Given the description of an element on the screen output the (x, y) to click on. 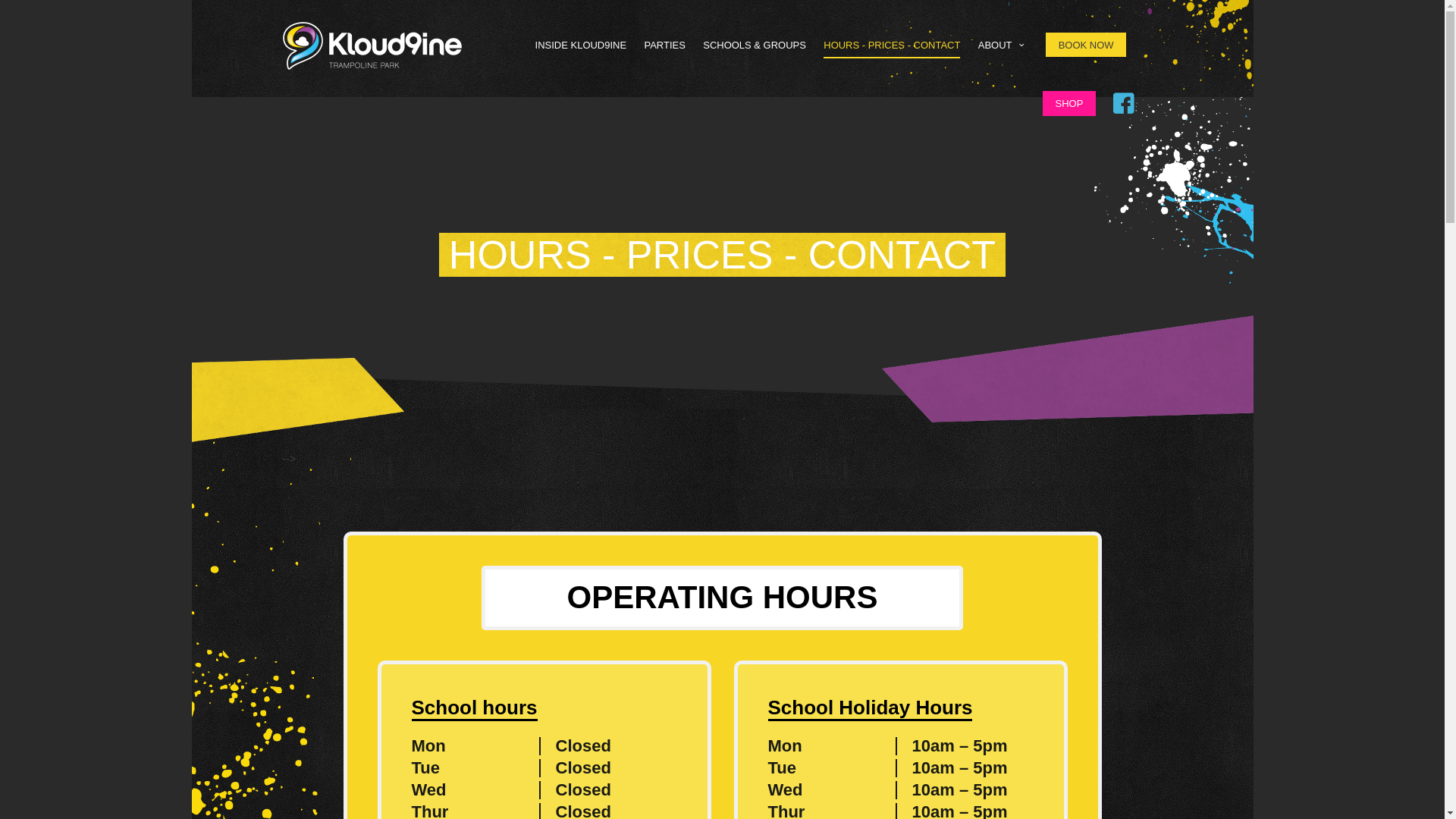
SHOP Element type: text (1068, 103)
ABOUT Element type: text (1003, 44)
SCHOOLS & GROUPS Element type: text (754, 44)
INSIDE KLOUD9INE Element type: text (581, 44)
BOOK NOW Element type: text (1085, 44)
HOURS - PRICES - CONTACT Element type: text (891, 45)
PARTIES Element type: text (663, 44)
